Given the description of an element on the screen output the (x, y) to click on. 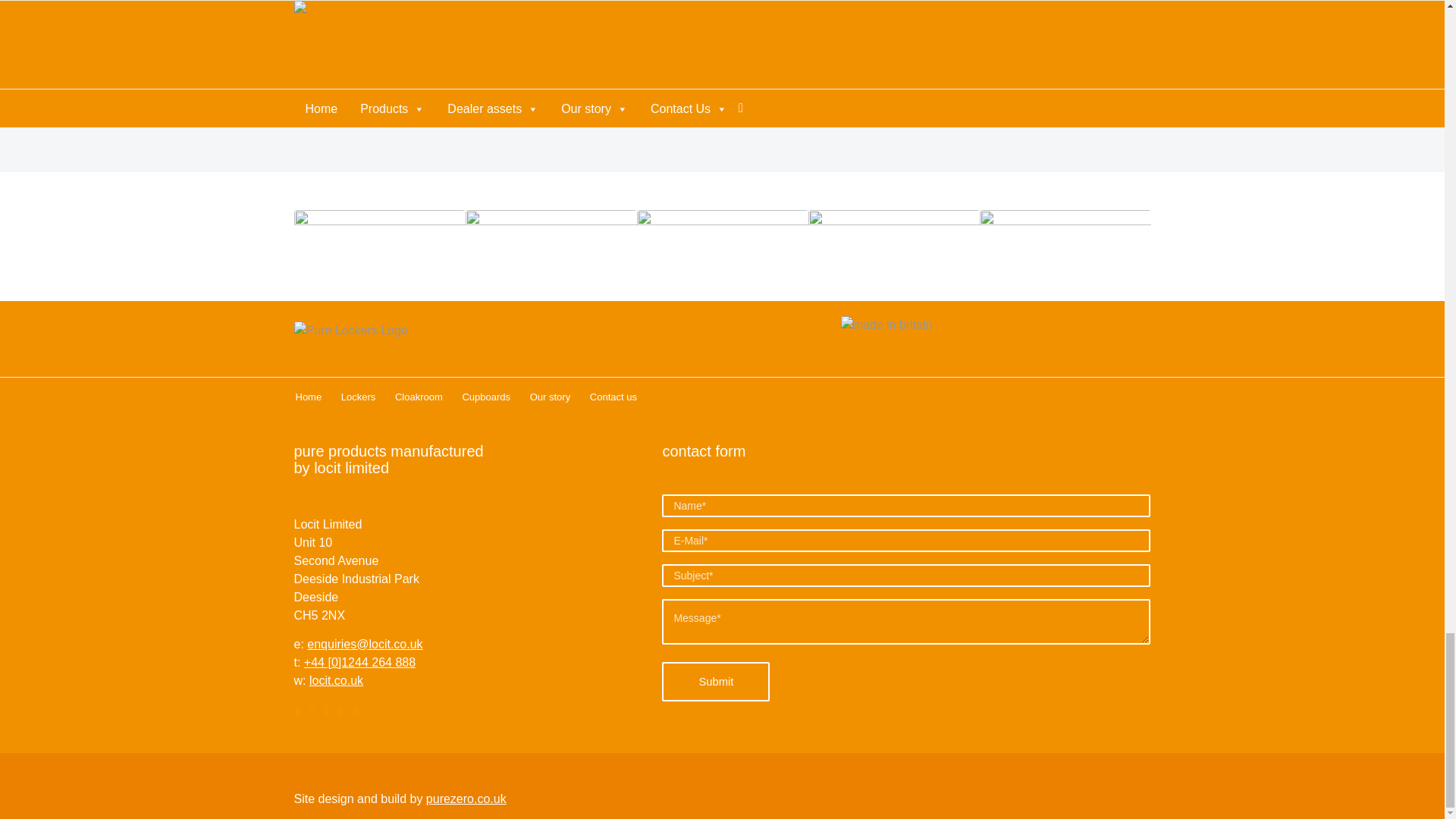
Submit (716, 681)
Page 5 (719, 22)
